Given the description of an element on the screen output the (x, y) to click on. 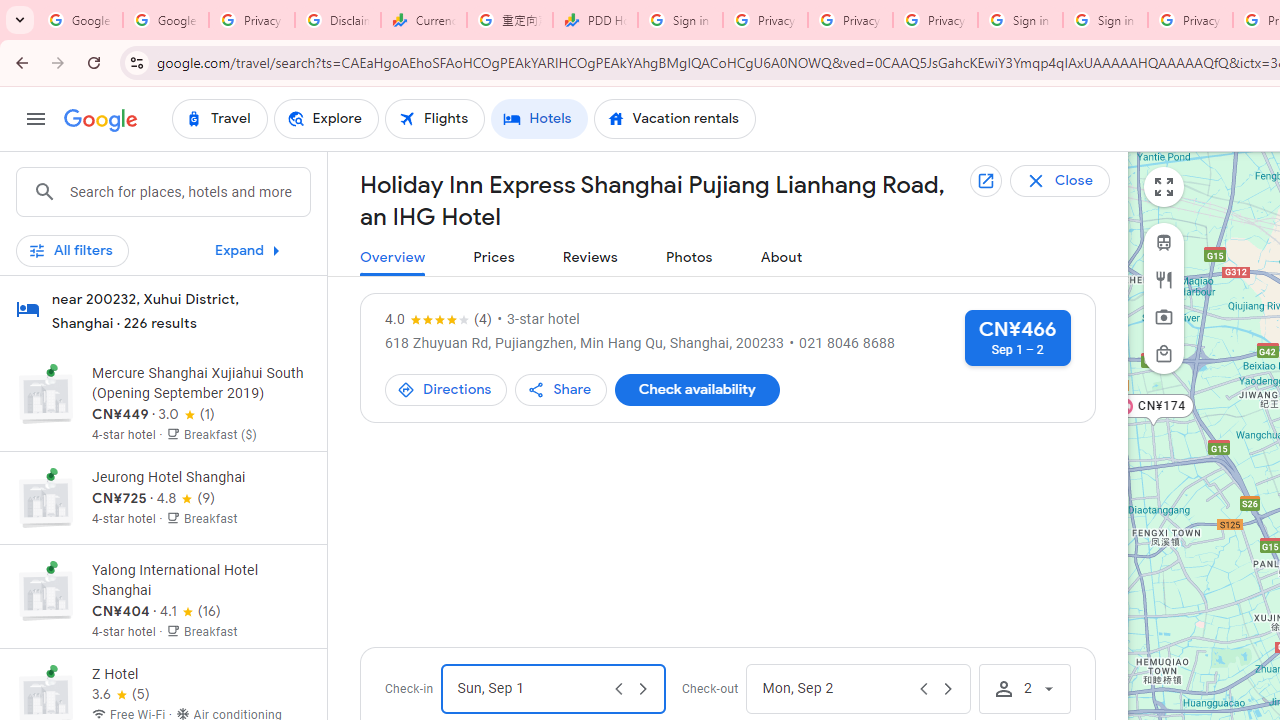
4.1 out of 5 stars from 16 reviews (189, 611)
Areas for shopping (1163, 353)
Check-in (530, 688)
Sign in - Google Accounts (680, 20)
3 out of 5 stars from 1 reviews (186, 414)
Sign in - Google Accounts (1020, 20)
Share (561, 389)
Check-out (836, 688)
Attractions (1163, 317)
All filters (72, 250)
Currencies - Google Finance (424, 20)
Vacation rentals (674, 118)
